Given the description of an element on the screen output the (x, y) to click on. 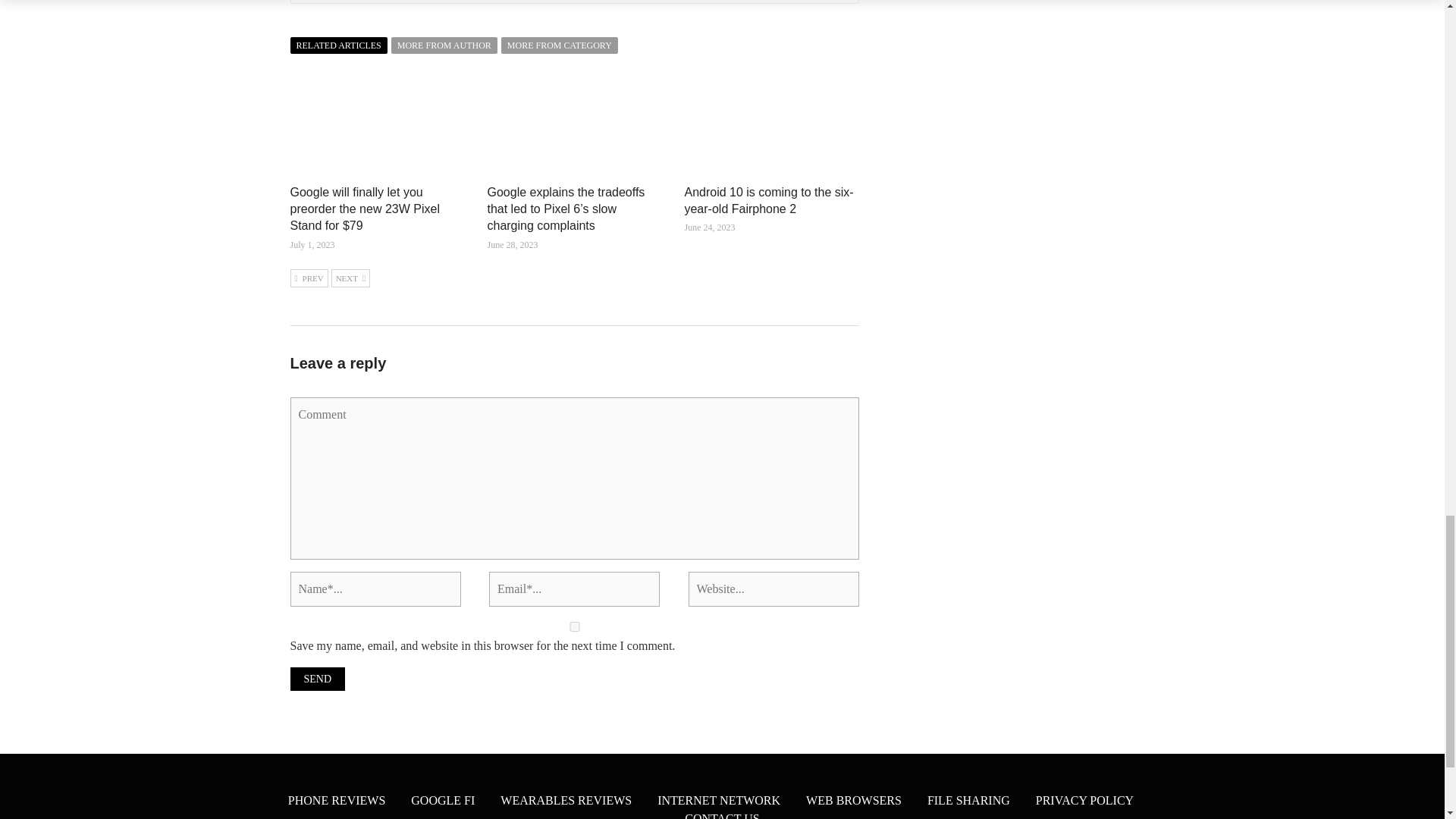
Send (317, 679)
yes (574, 626)
